Given the description of an element on the screen output the (x, y) to click on. 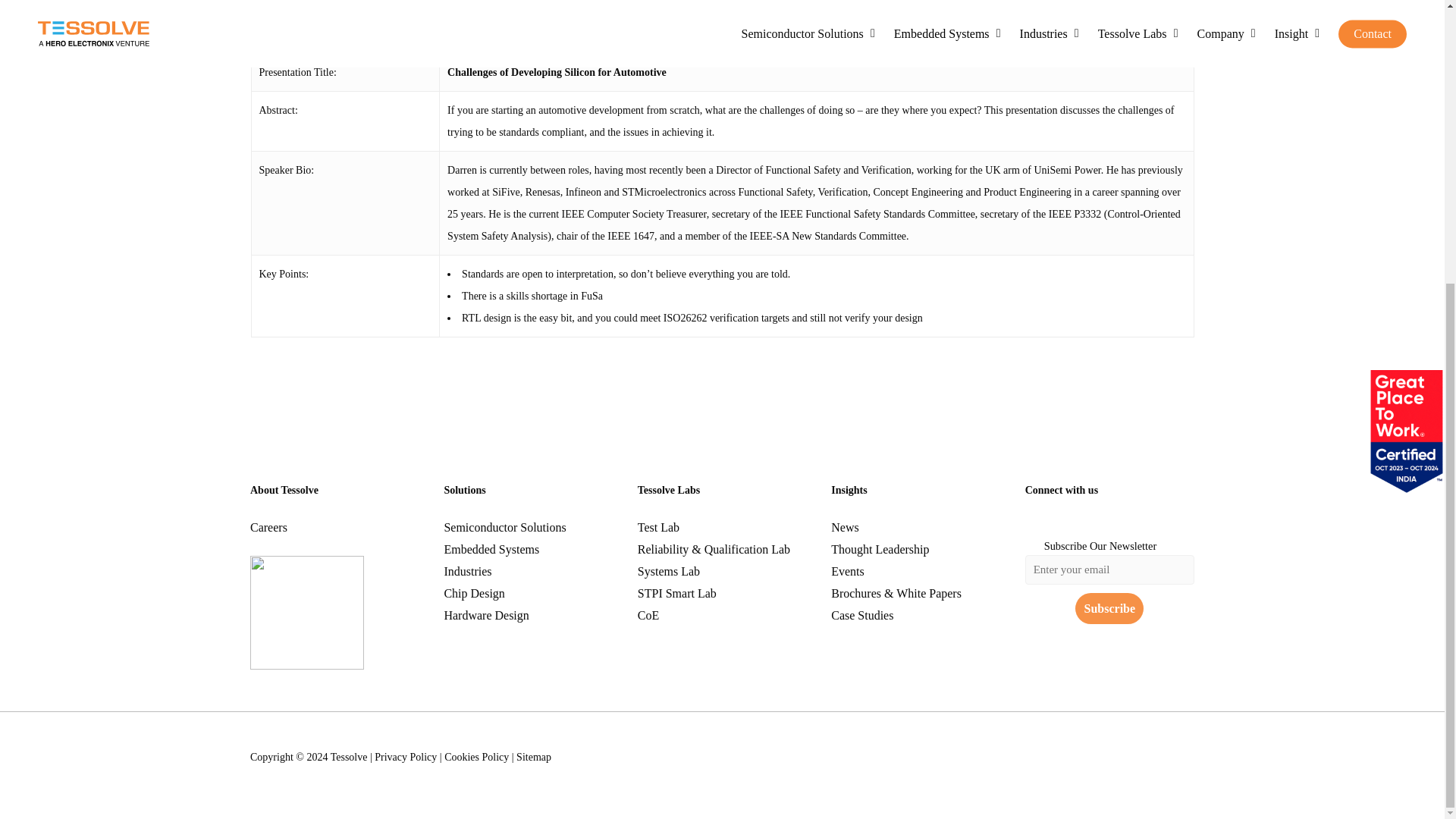
Subscribe (1108, 607)
